Given the description of an element on the screen output the (x, y) to click on. 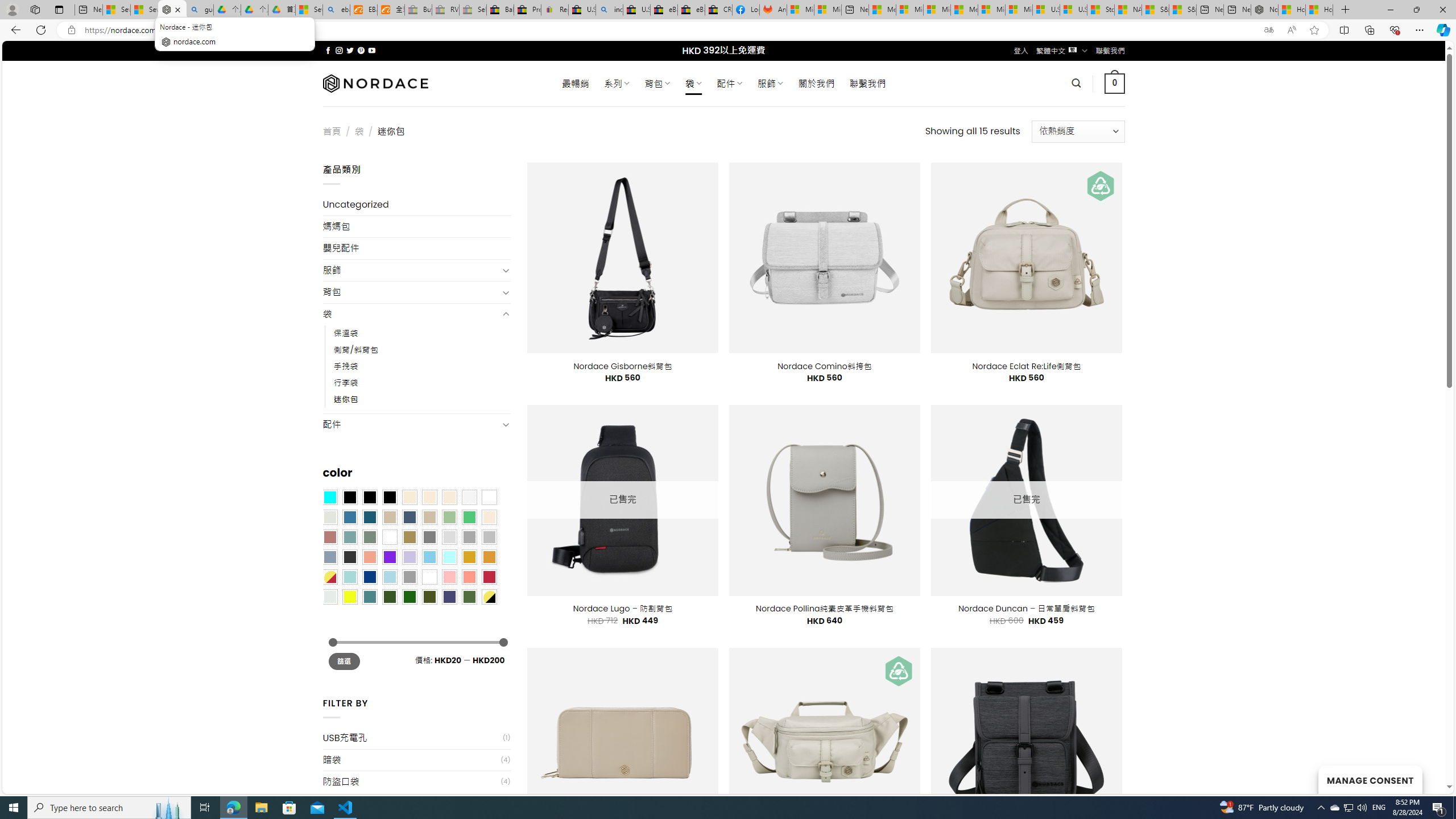
Baby Keepsakes & Announcements for sale | eBay (499, 9)
Cream (449, 497)
ebay - Search (336, 9)
